Given the description of an element on the screen output the (x, y) to click on. 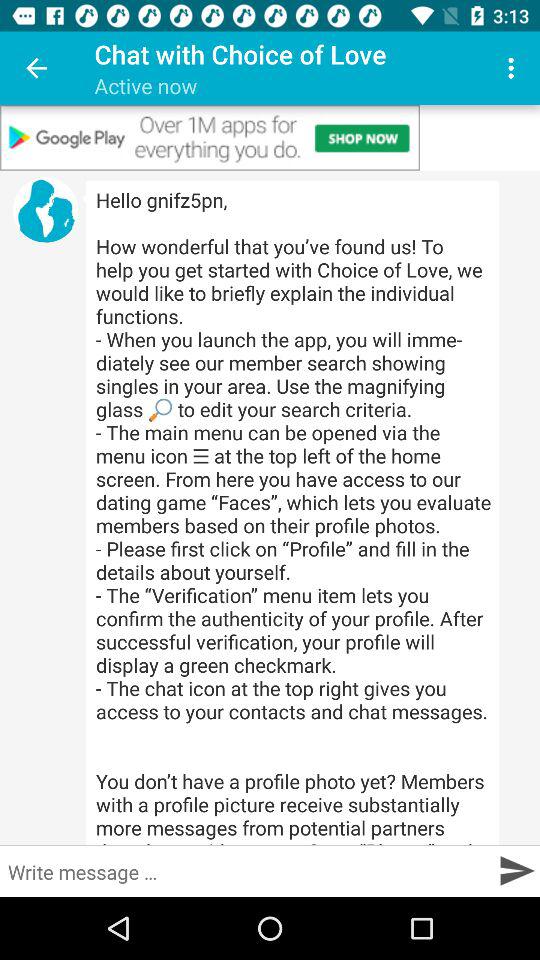
logo of sender (45, 210)
